Given the description of an element on the screen output the (x, y) to click on. 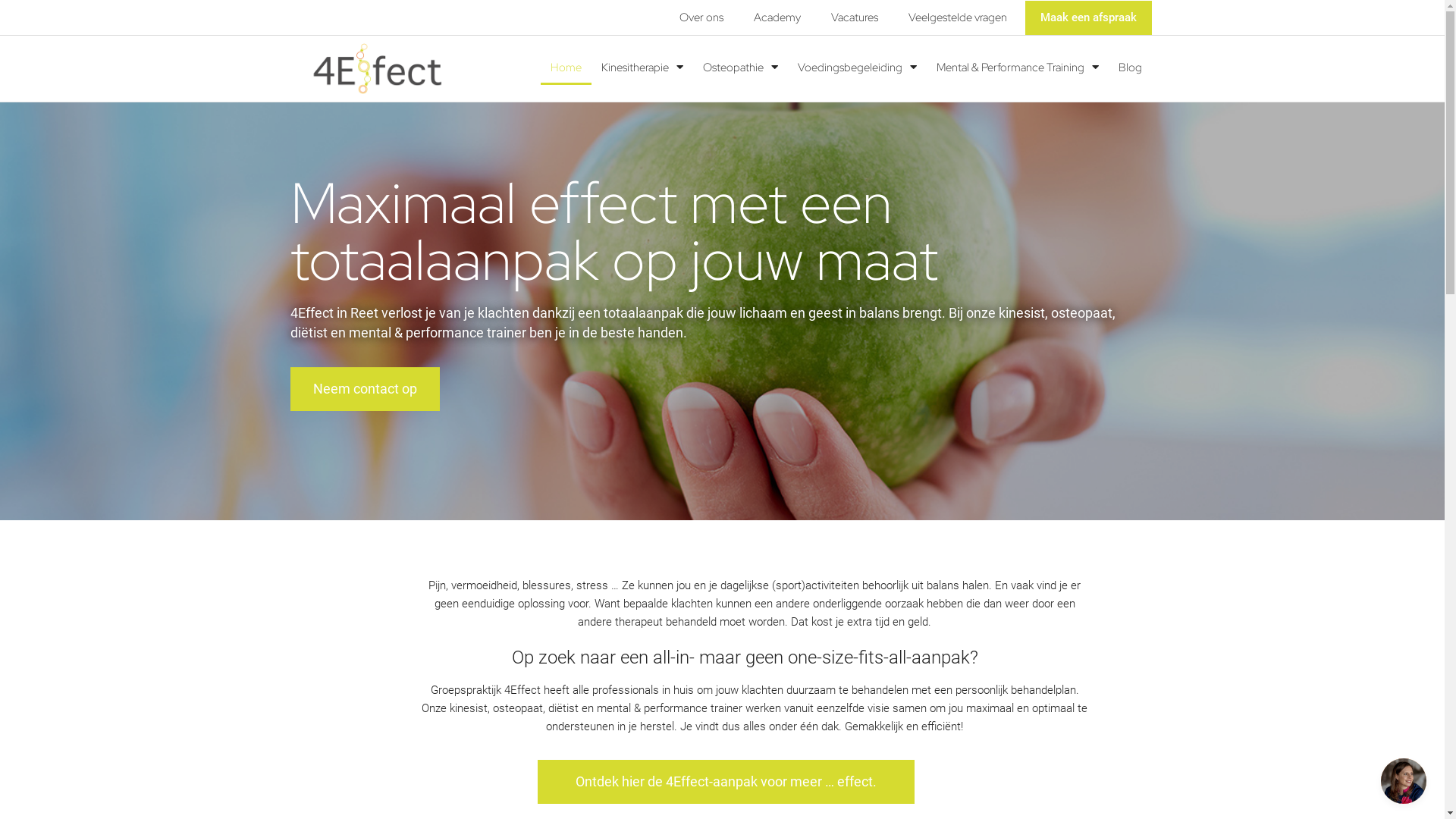
Osteopathie Element type: text (740, 67)
Over ons Element type: text (701, 17)
Mental & Performance Training Element type: text (1017, 67)
Kinesitherapie Element type: text (642, 67)
Home Element type: text (565, 67)
Blog Element type: text (1129, 67)
Maak een afspraak Element type: text (1088, 17)
Vacatures Element type: text (854, 17)
Voedingsbegeleiding Element type: text (856, 67)
Academy Element type: text (776, 17)
Veelgestelde vragen Element type: text (957, 17)
Neem contact op Element type: text (364, 389)
